Given the description of an element on the screen output the (x, y) to click on. 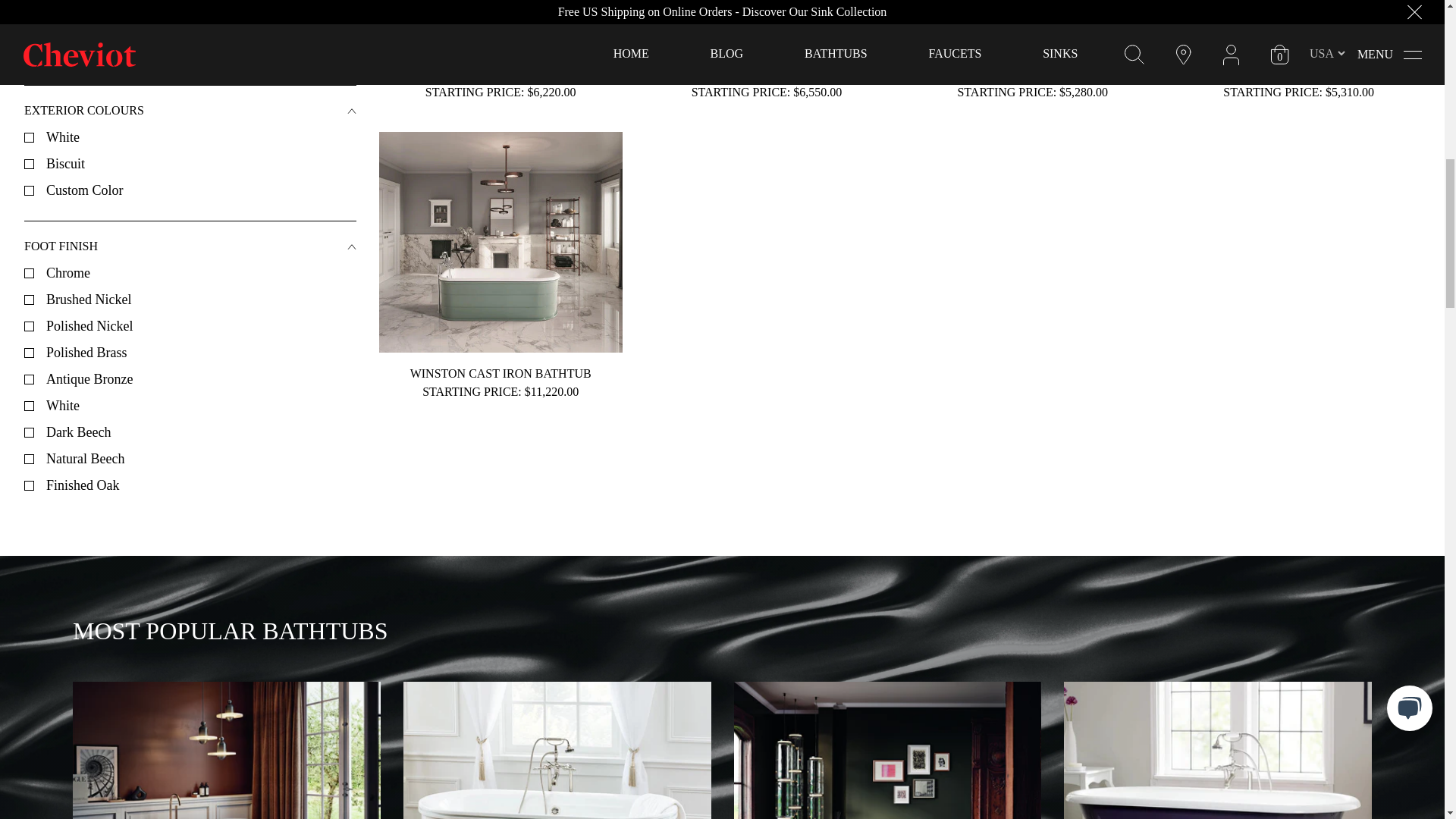
on (28, 298)
on (28, 352)
on (28, 136)
on (28, 54)
Balmoral Cast Iron Bathtub (226, 750)
on (28, 27)
on (28, 163)
on (28, 379)
Carlton Cast Iron Bathtub (1217, 750)
on (28, 326)
Cambridge Cast Iron Bathtub (887, 750)
Buckingham Cast Iron Bathtub (557, 750)
on (28, 273)
on (28, 189)
on (28, 405)
